Given the description of an element on the screen output the (x, y) to click on. 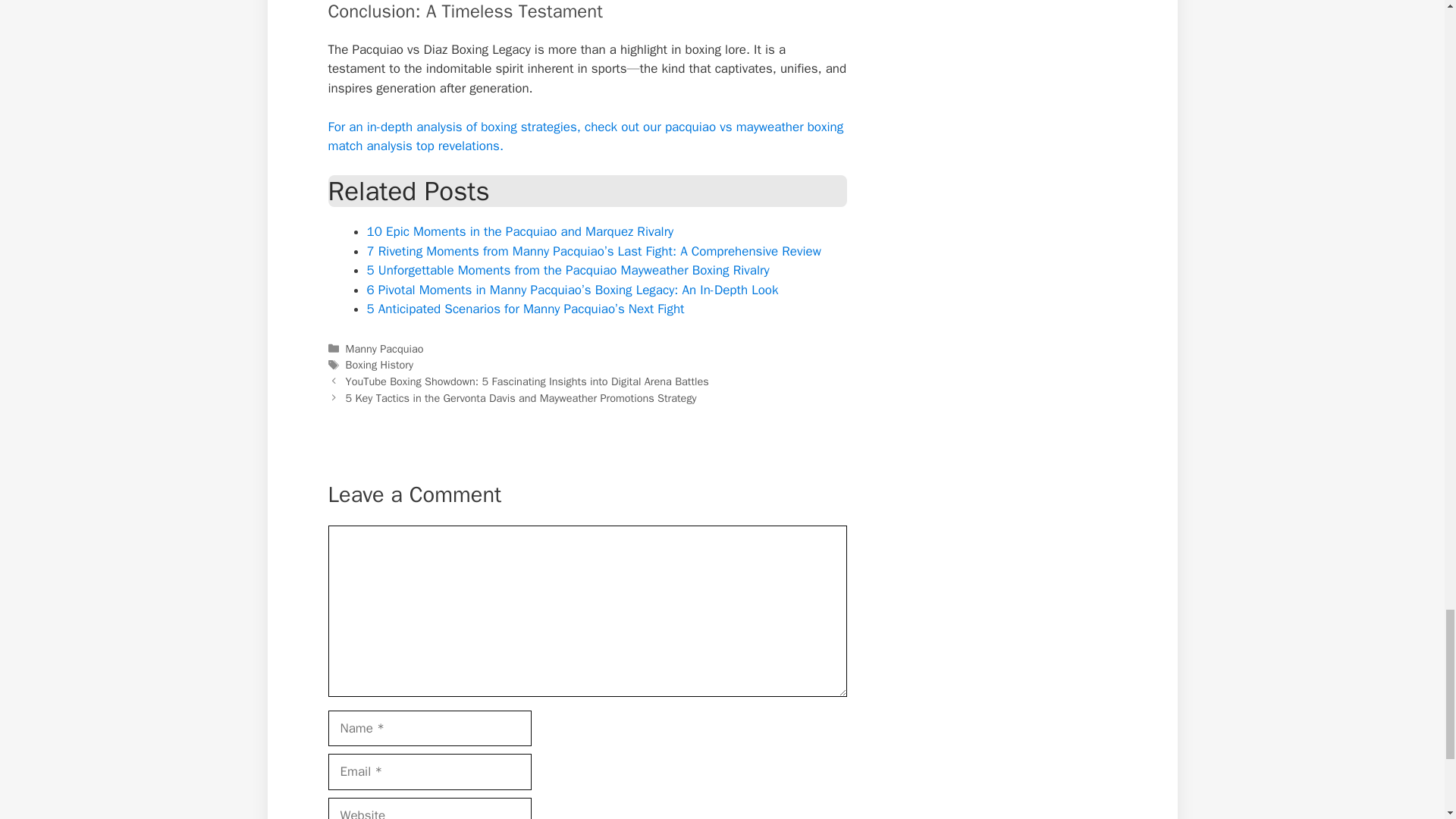
Boxing History (379, 364)
10 Epic Moments in the Pacquiao and Marquez Rivalry (520, 231)
Manny Pacquiao (384, 348)
